Given the description of an element on the screen output the (x, y) to click on. 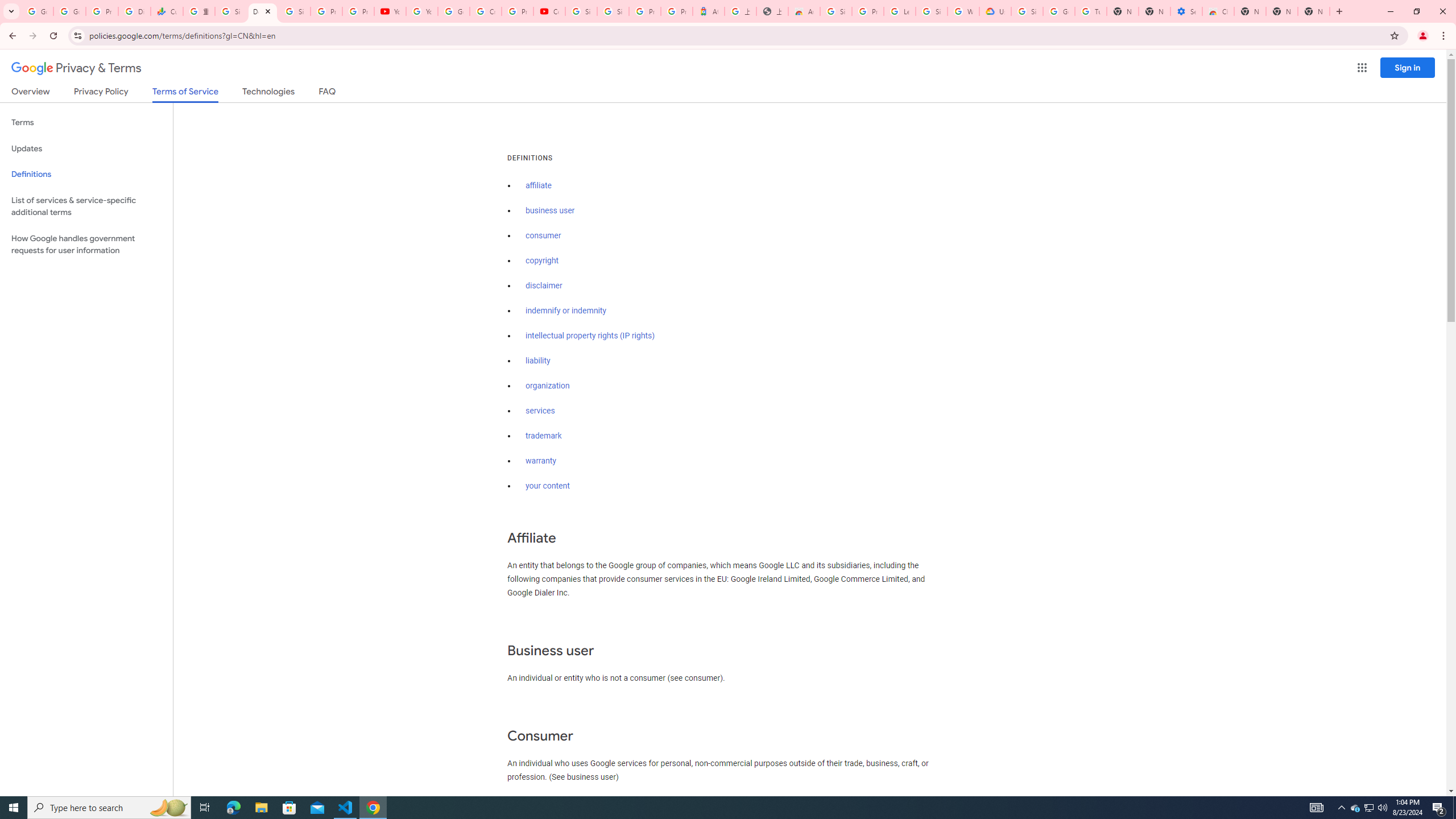
liability (537, 361)
Content Creator Programs & Opportunities - YouTube Creators (549, 11)
disclaimer (543, 285)
Sign in - Google Accounts (294, 11)
